Given the description of an element on the screen output the (x, y) to click on. 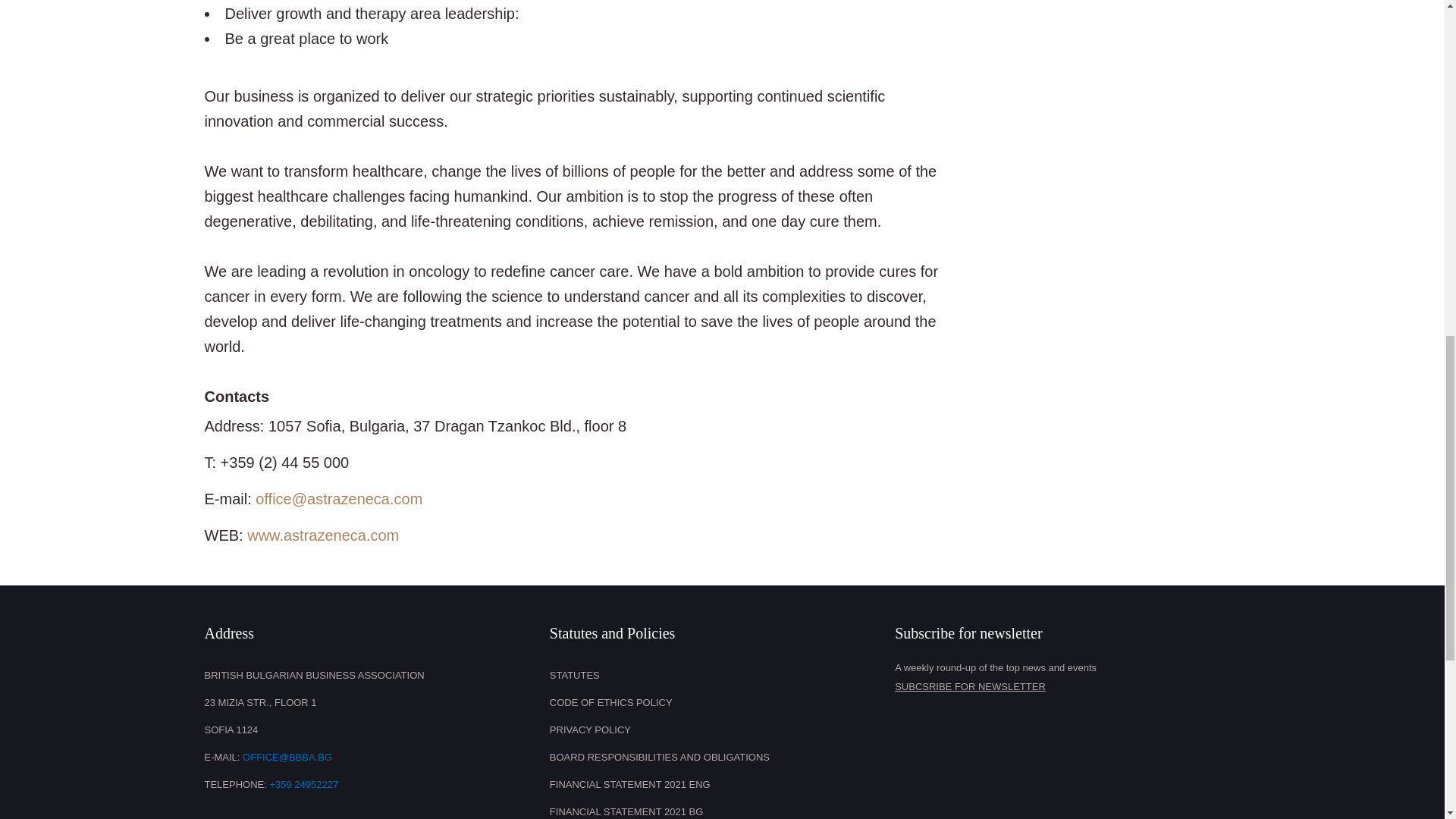
www.astrazeneca.com (322, 535)
FINANCIAL STATEMENT 2021 ENG (718, 784)
BOARD RESPONSIBILITIES AND OBLIGATIONS (718, 757)
FINANCIAL STATEMENT 2021 BG (718, 808)
CODE OF ETHICS POLICY (718, 702)
STATUTES (718, 675)
SUBCSRIBE FOR NEWSLETTER (1063, 687)
PRIVACY POLICY (718, 729)
